Given the description of an element on the screen output the (x, y) to click on. 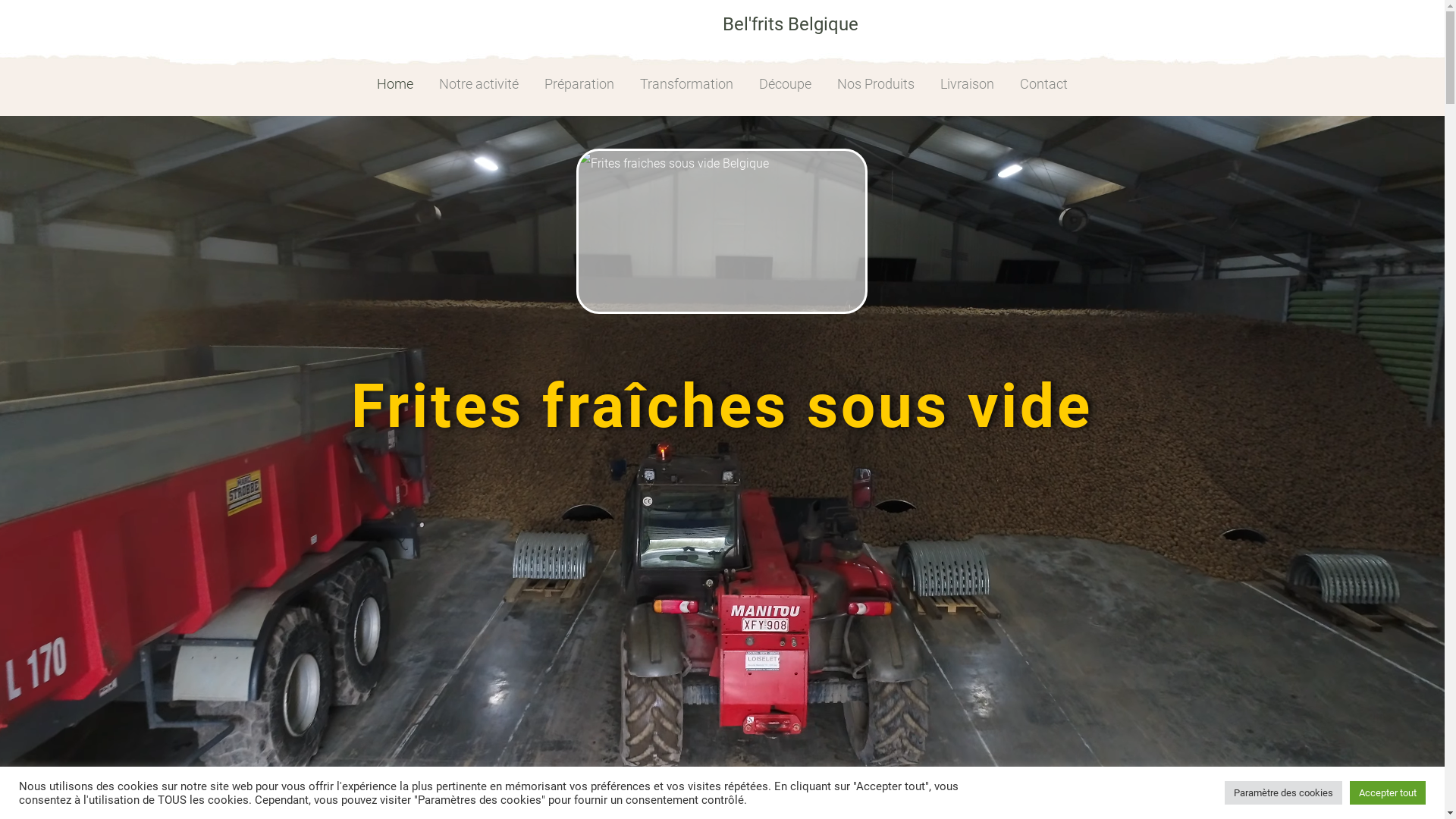
Home Element type: text (394, 84)
Transformation Element type: text (686, 84)
Contact Element type: text (1043, 84)
Livraison Element type: text (967, 84)
Nos Produits Element type: text (875, 84)
Bel'frits Belgique Element type: text (789, 23)
Accepter tout Element type: text (1387, 792)
